Given the description of an element on the screen output the (x, y) to click on. 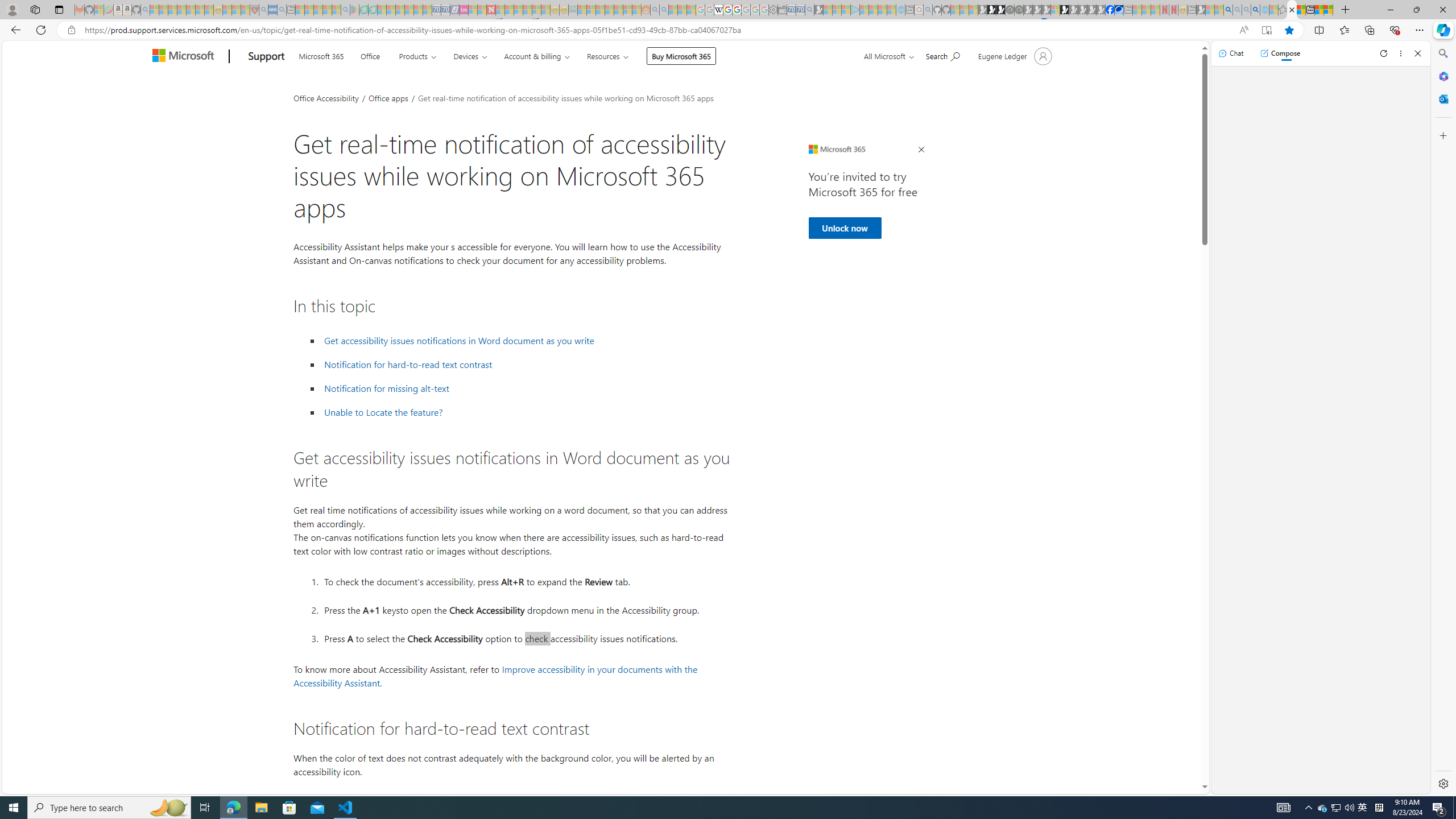
 Unable to Locate the feature? (383, 412)
Account manager for Eugene Ledger (1014, 55)
Office (370, 54)
Compose (1279, 52)
AirNow.gov (1118, 9)
